Given the description of an element on the screen output the (x, y) to click on. 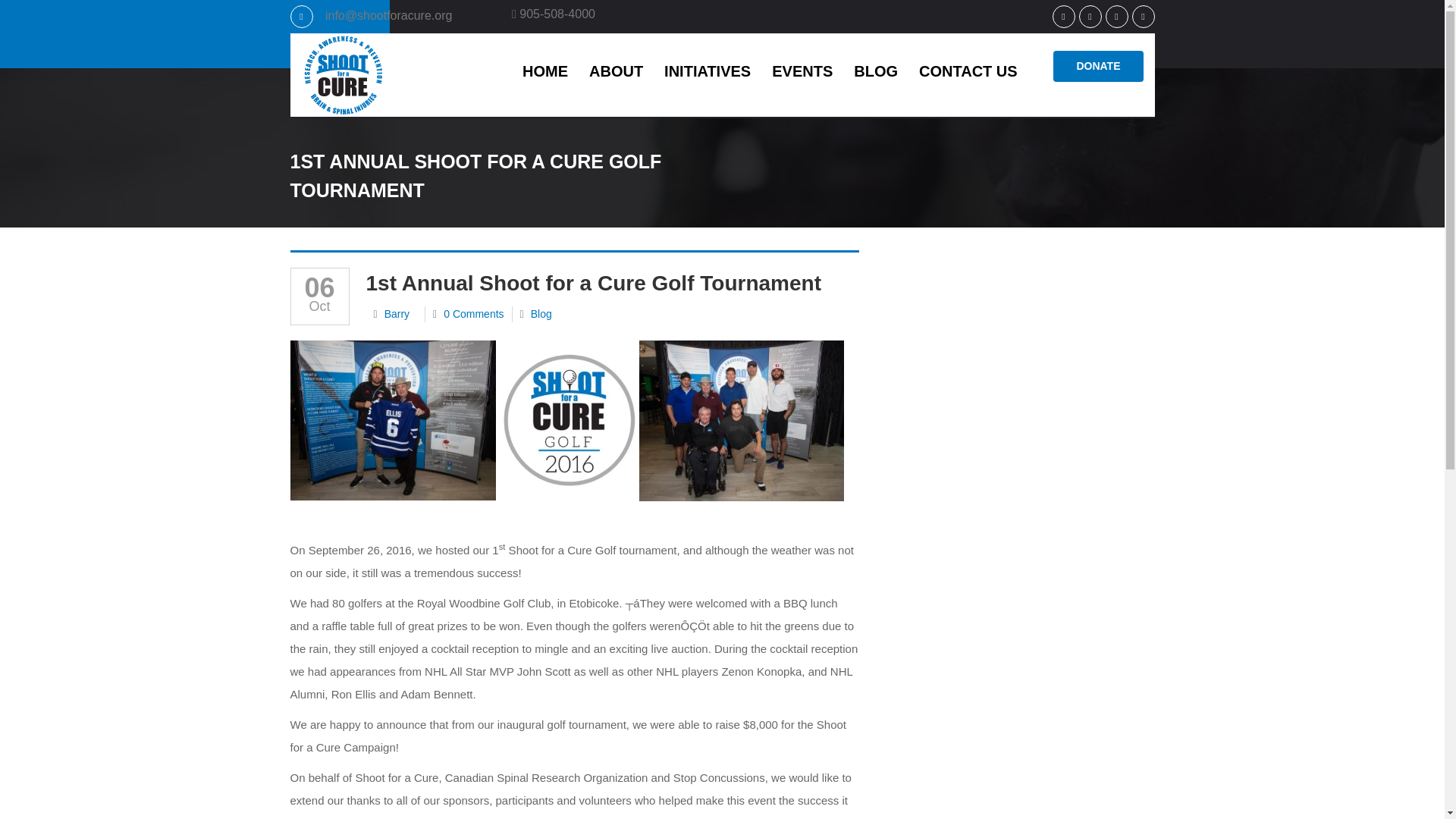
HOME (545, 69)
BLOG (875, 69)
Posts by Barry (396, 313)
ABOUT (615, 69)
Blog (541, 313)
Barry (396, 313)
0 Comments (473, 313)
CONTACT US (967, 69)
INITIATIVES (707, 69)
EVENTS (802, 69)
DONATE (1097, 65)
905-508-4000 (553, 13)
